Given the description of an element on the screen output the (x, y) to click on. 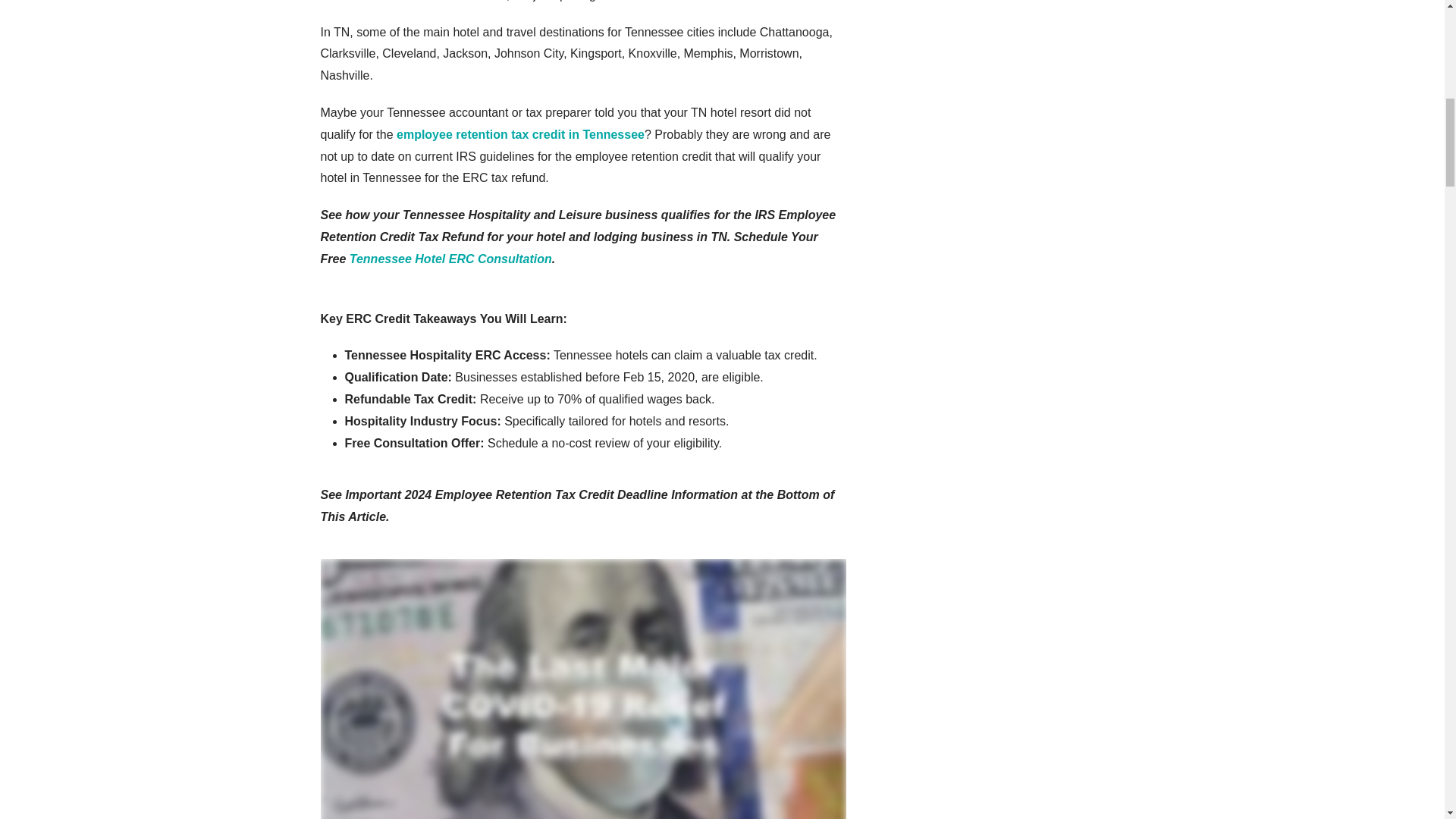
employee retention tax credit in Tennessee (520, 133)
Tennessee Hotel ERC Consultation (450, 258)
